Given the description of an element on the screen output the (x, y) to click on. 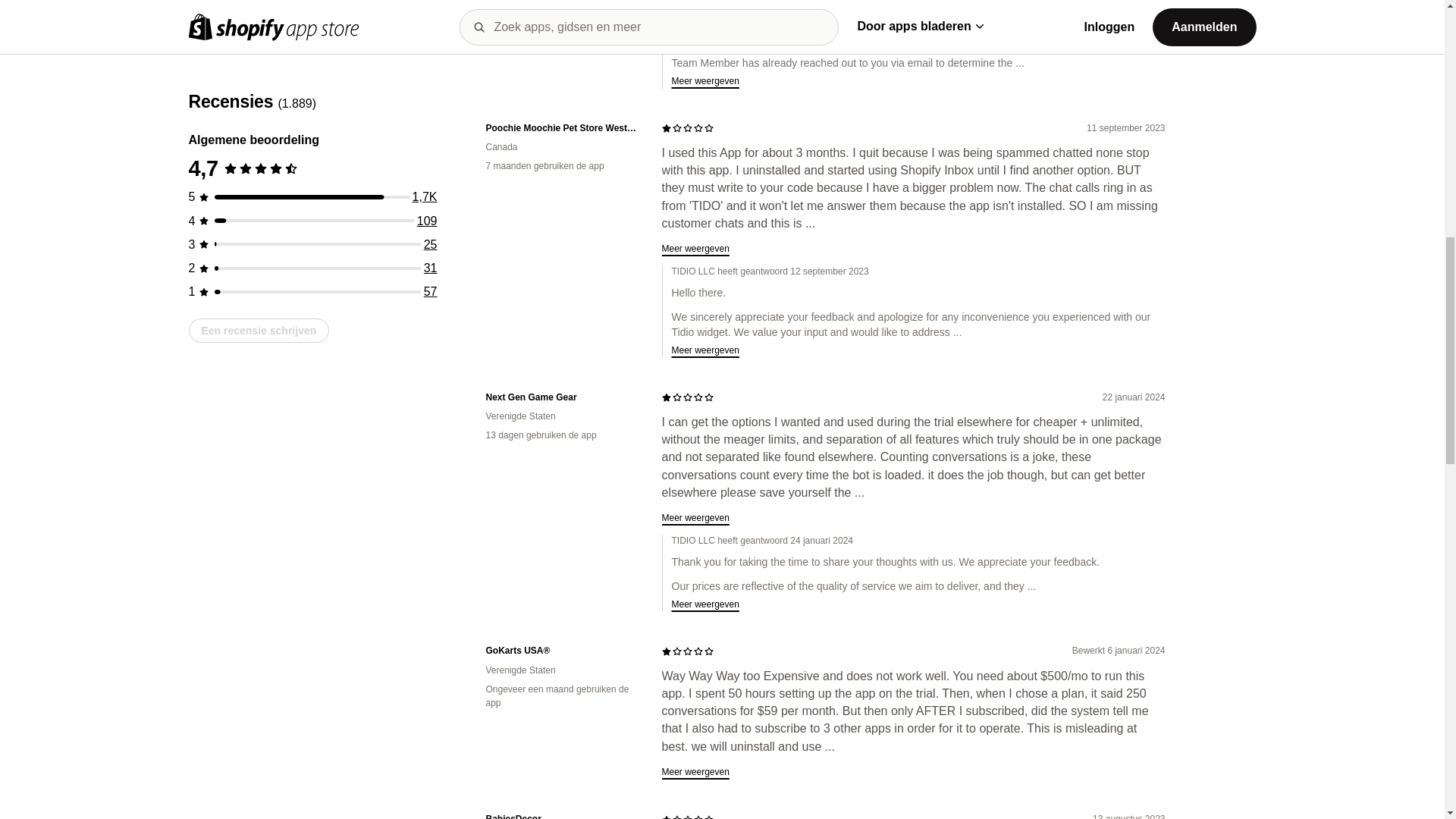
Poochie Moochie Pet Store West Edmonton (560, 128)
BabiesDecor (560, 816)
Next Gen Game Gear (560, 397)
